Given the description of an element on the screen output the (x, y) to click on. 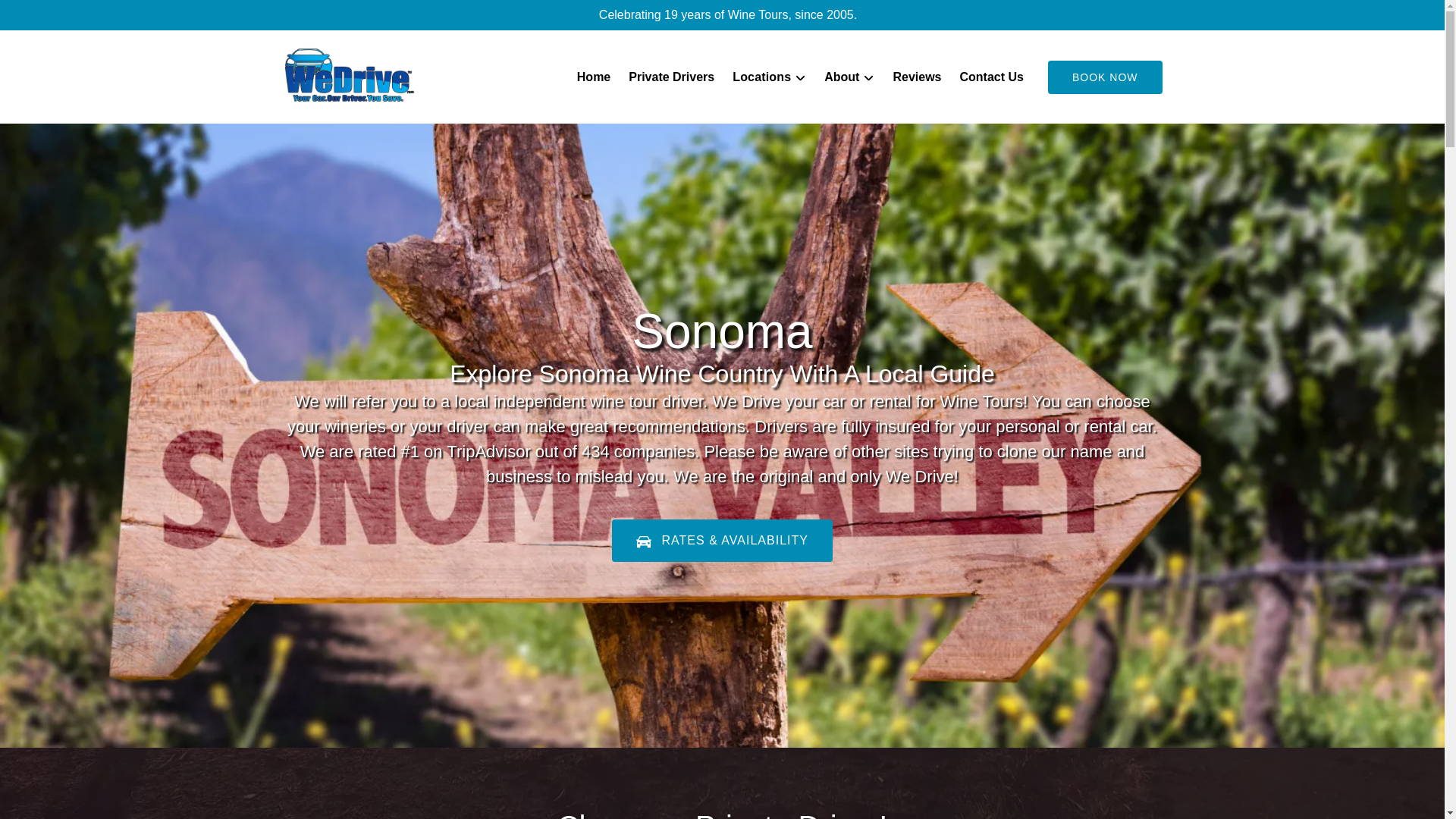
Private Drivers (671, 76)
Locations (769, 76)
Skip to footer (42, 16)
Open Locations Menu (772, 73)
Home (593, 76)
Skip to content (47, 16)
Contact Us (991, 76)
CAR (643, 540)
BOOK NOW (1104, 77)
Skip to primary navigation (77, 16)
